Given the description of an element on the screen output the (x, y) to click on. 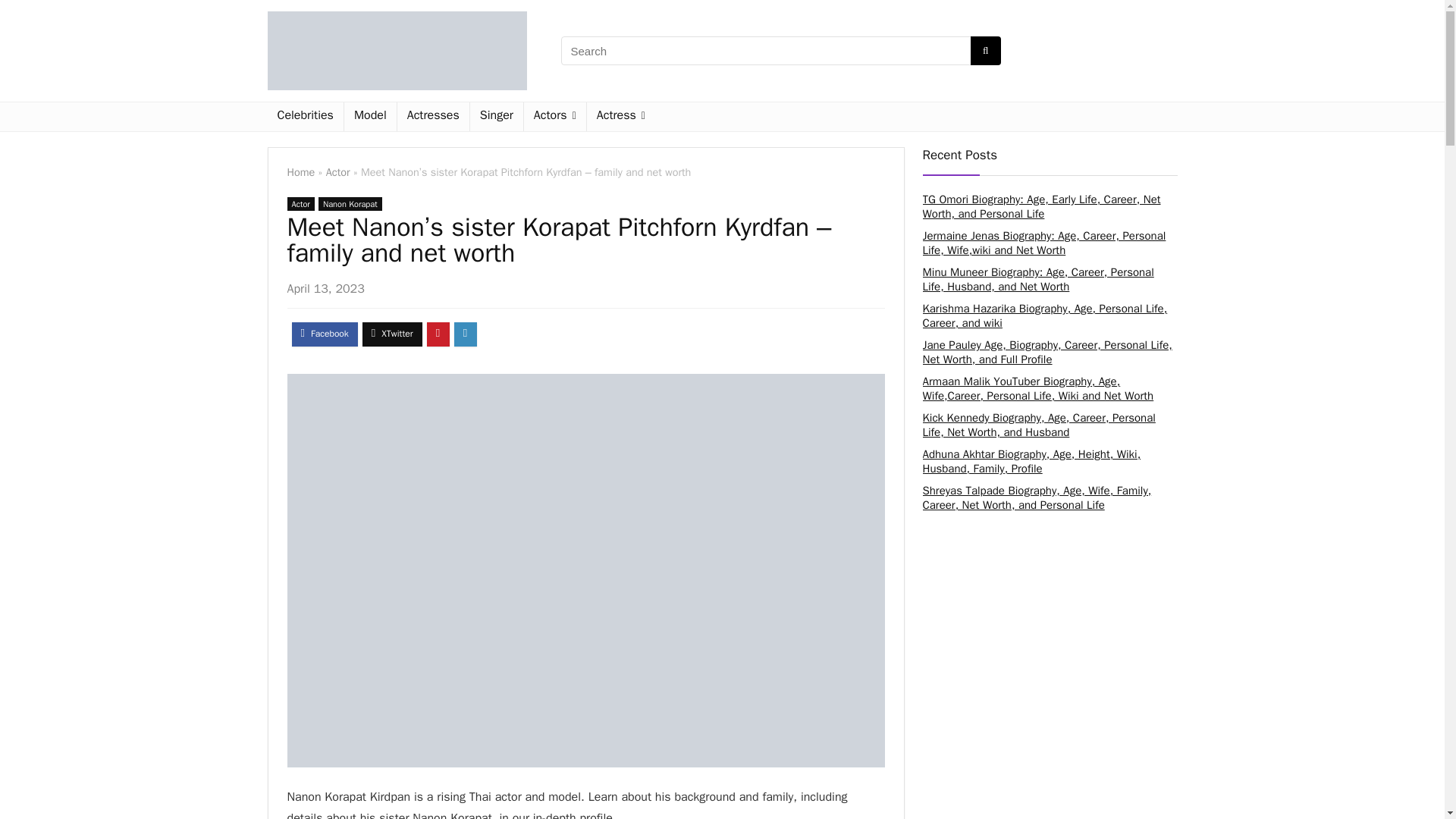
Actor (300, 203)
Celebrities (304, 116)
View all posts in Actor (300, 203)
Model (369, 116)
Home (300, 172)
Actresses (432, 116)
Nanon Korapat (349, 203)
